Given the description of an element on the screen output the (x, y) to click on. 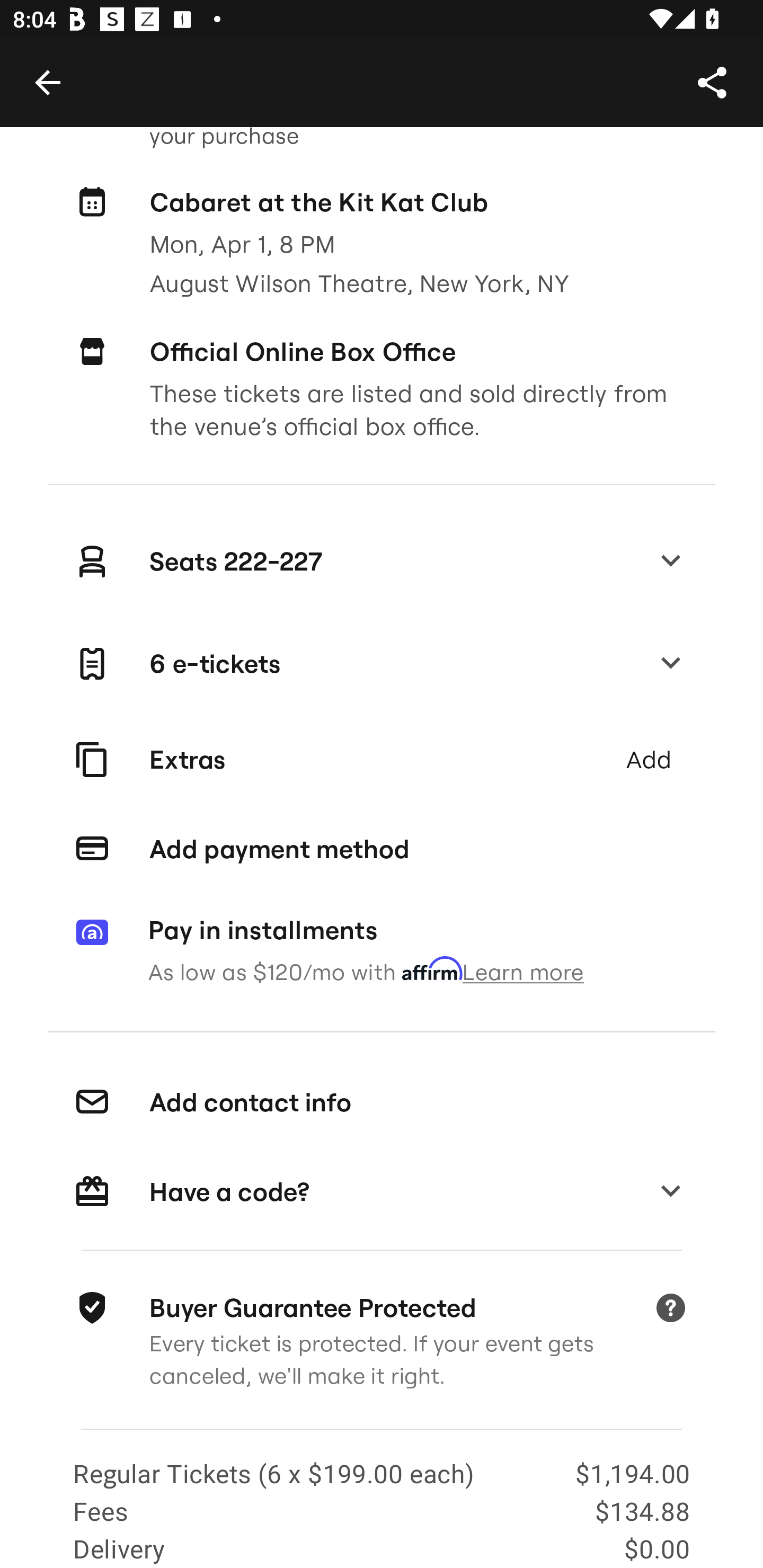
Expand image to fullscreen (57, 69)
Share (711, 81)
Seats 222-227 Expand to show options (381, 562)
6 e-tickets Expand to show options (381, 664)
Extras Add (381, 759)
Add (647, 759)
Add payment method (381, 848)
Add contact info (381, 1102)
Have a code? Expand to show options (381, 1192)
